Given the description of an element on the screen output the (x, y) to click on. 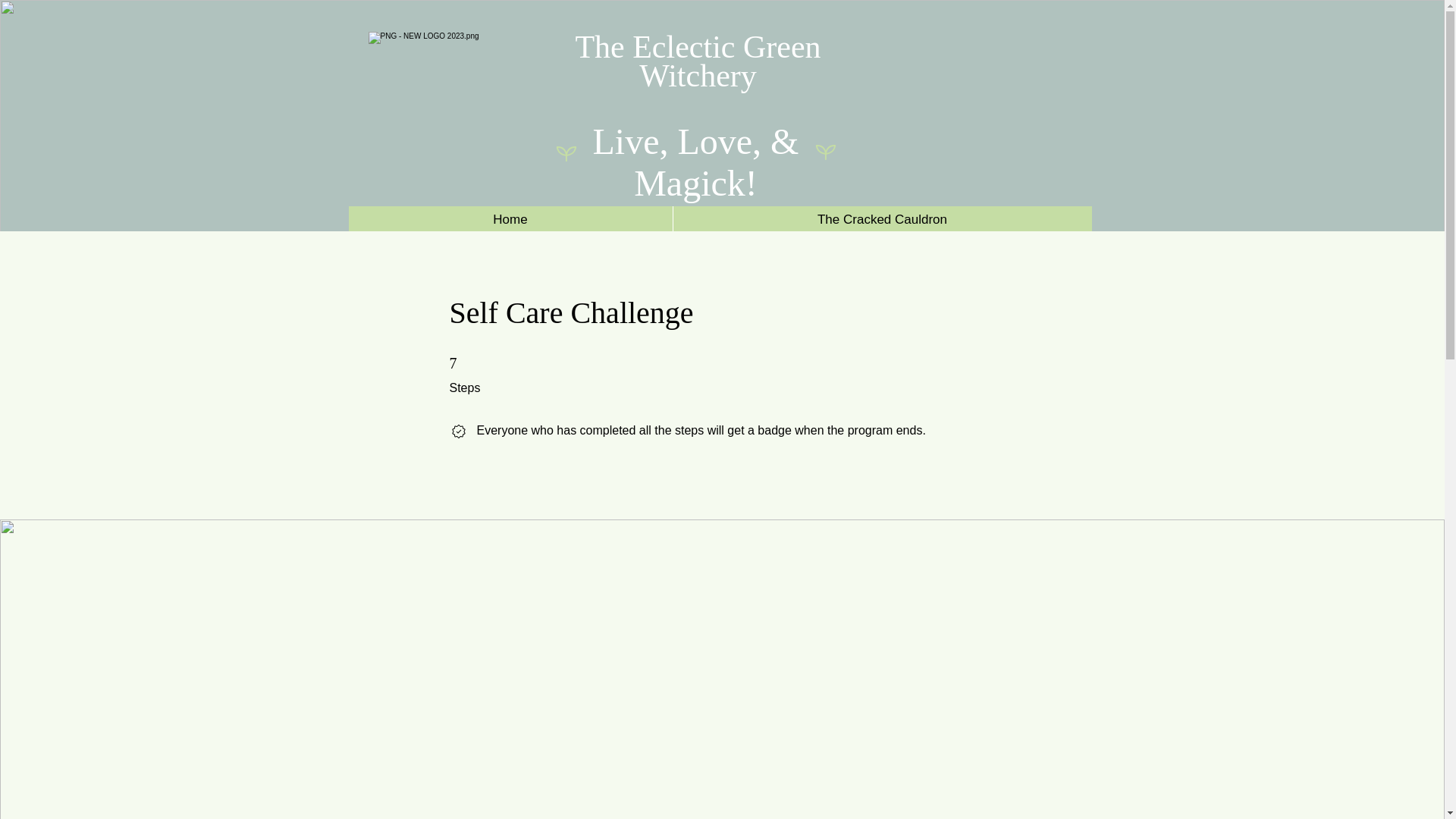
Green Witchery (730, 61)
Logo (447, 105)
The Eclectic (658, 46)
The Cracked Cauldron (880, 219)
Home (510, 219)
